Given the description of an element on the screen output the (x, y) to click on. 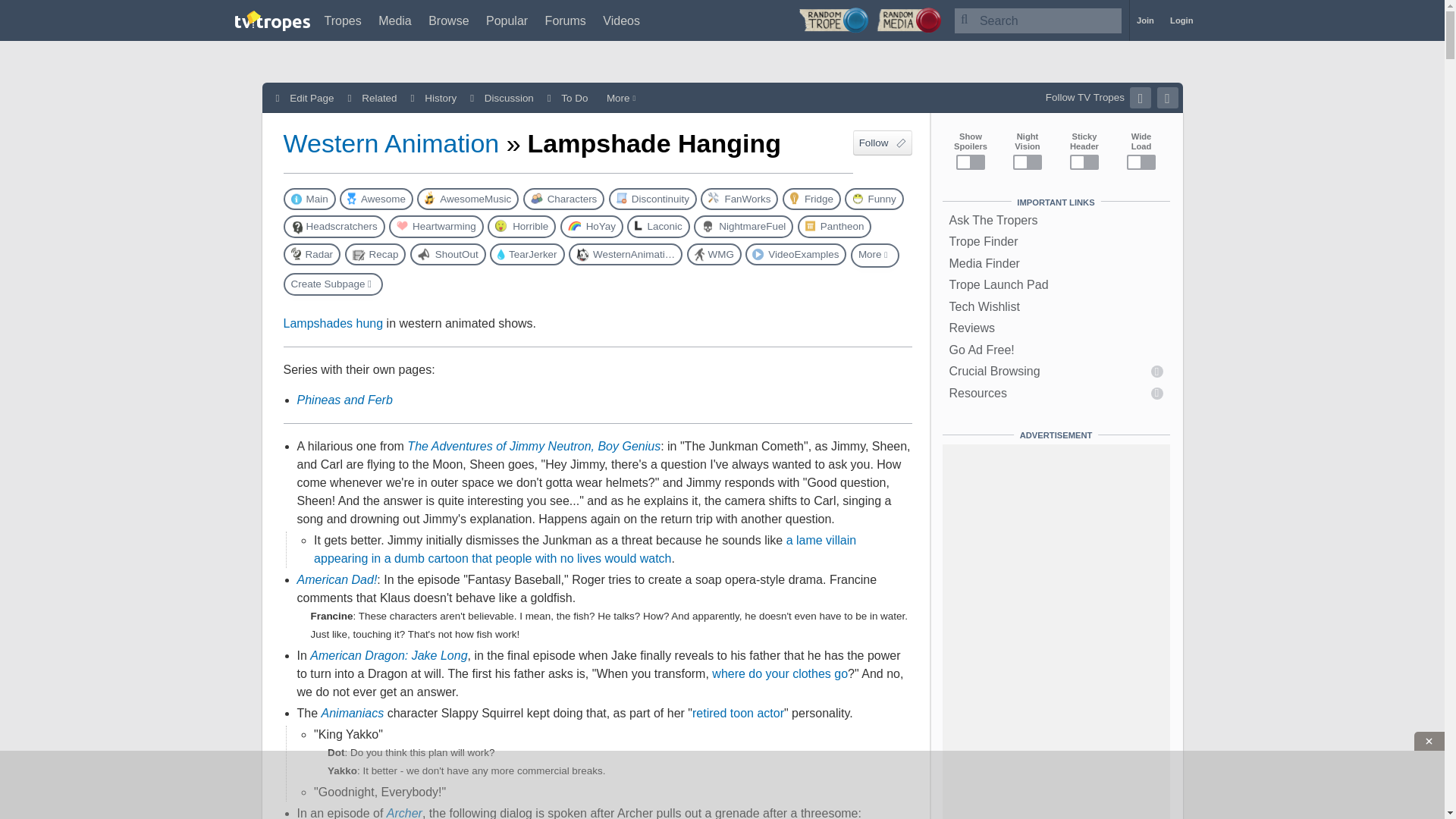
The FanWorks page (738, 198)
The HoYay page (591, 226)
3rd party ad content (721, 785)
The Fridge page (812, 198)
The Characters page (563, 198)
Login (1181, 20)
Popular (506, 20)
The Laconic page (657, 226)
The Radar page (311, 254)
The Horrible page (521, 226)
Tropes (342, 20)
The Funny page (873, 198)
The Awesome page (376, 198)
The Headscratchers page (334, 226)
The Main page (309, 198)
